Given the description of an element on the screen output the (x, y) to click on. 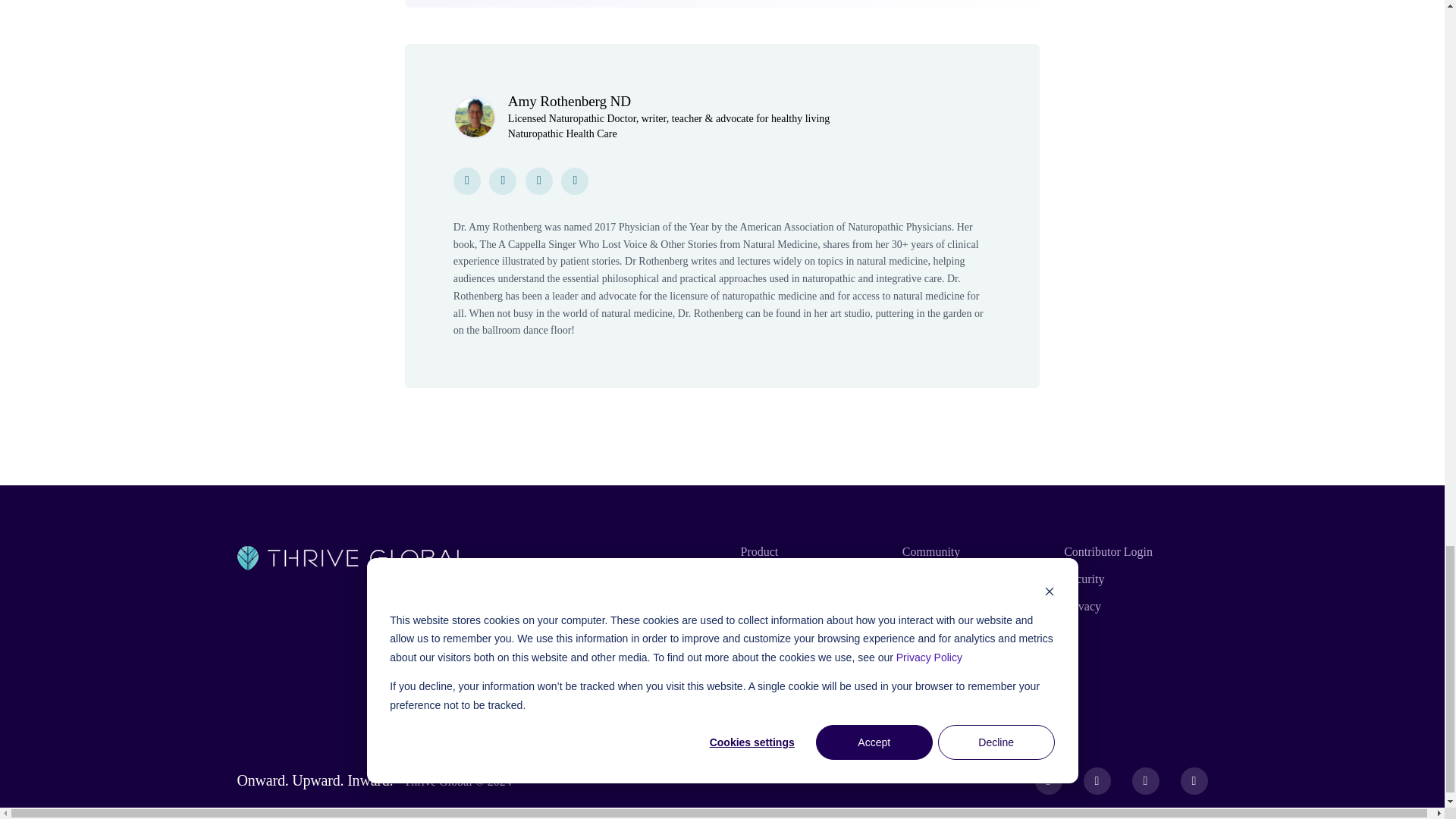
Amy Rothenberg ND (569, 100)
